Given the description of an element on the screen output the (x, y) to click on. 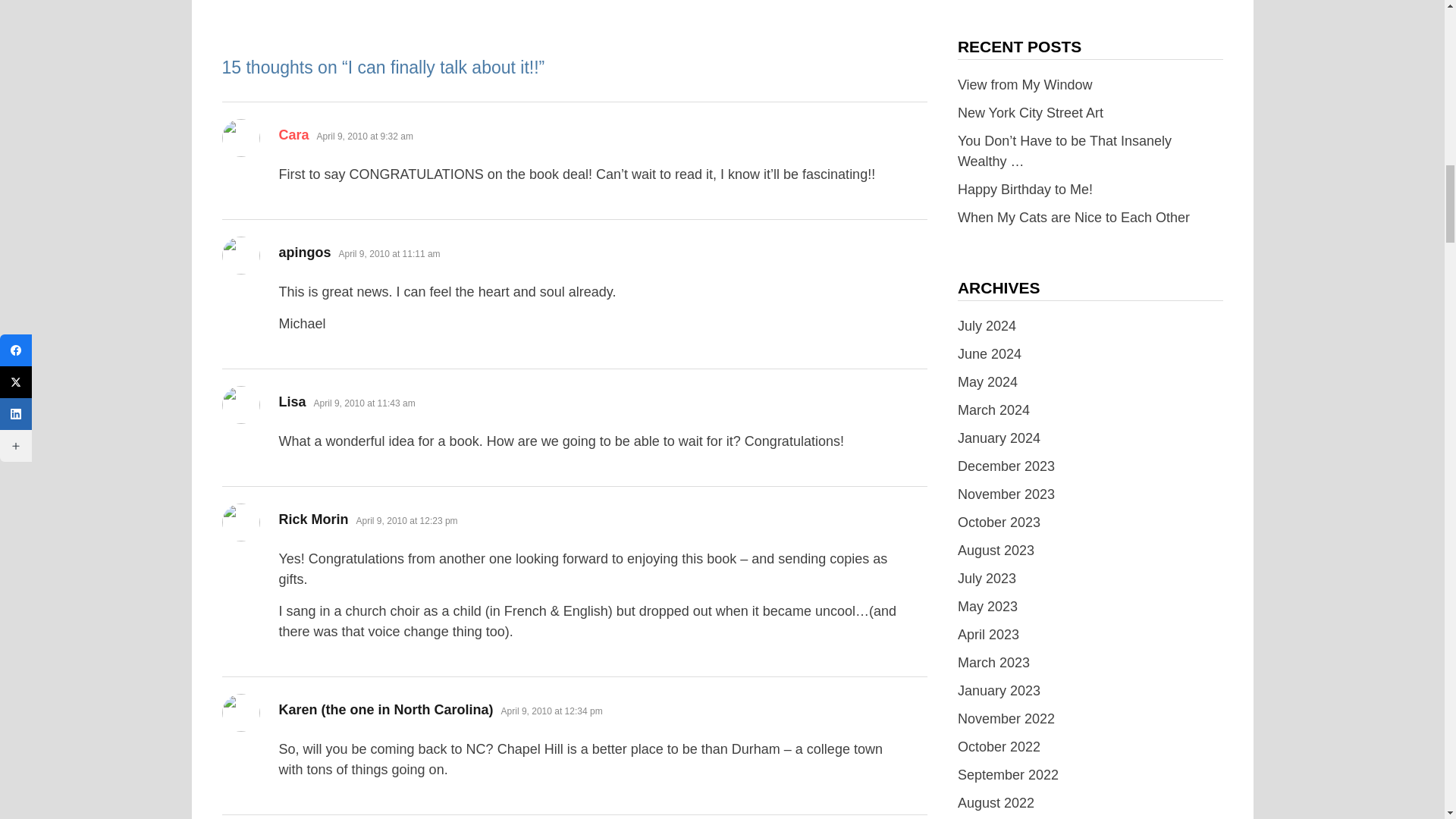
April 9, 2010 at 11:43 am (364, 403)
April 9, 2010 at 12:34 pm (551, 710)
April 9, 2010 at 9:32 am (365, 136)
April 9, 2010 at 11:11 am (390, 253)
Cara (293, 134)
April 9, 2010 at 12:23 pm (407, 520)
